Given the description of an element on the screen output the (x, y) to click on. 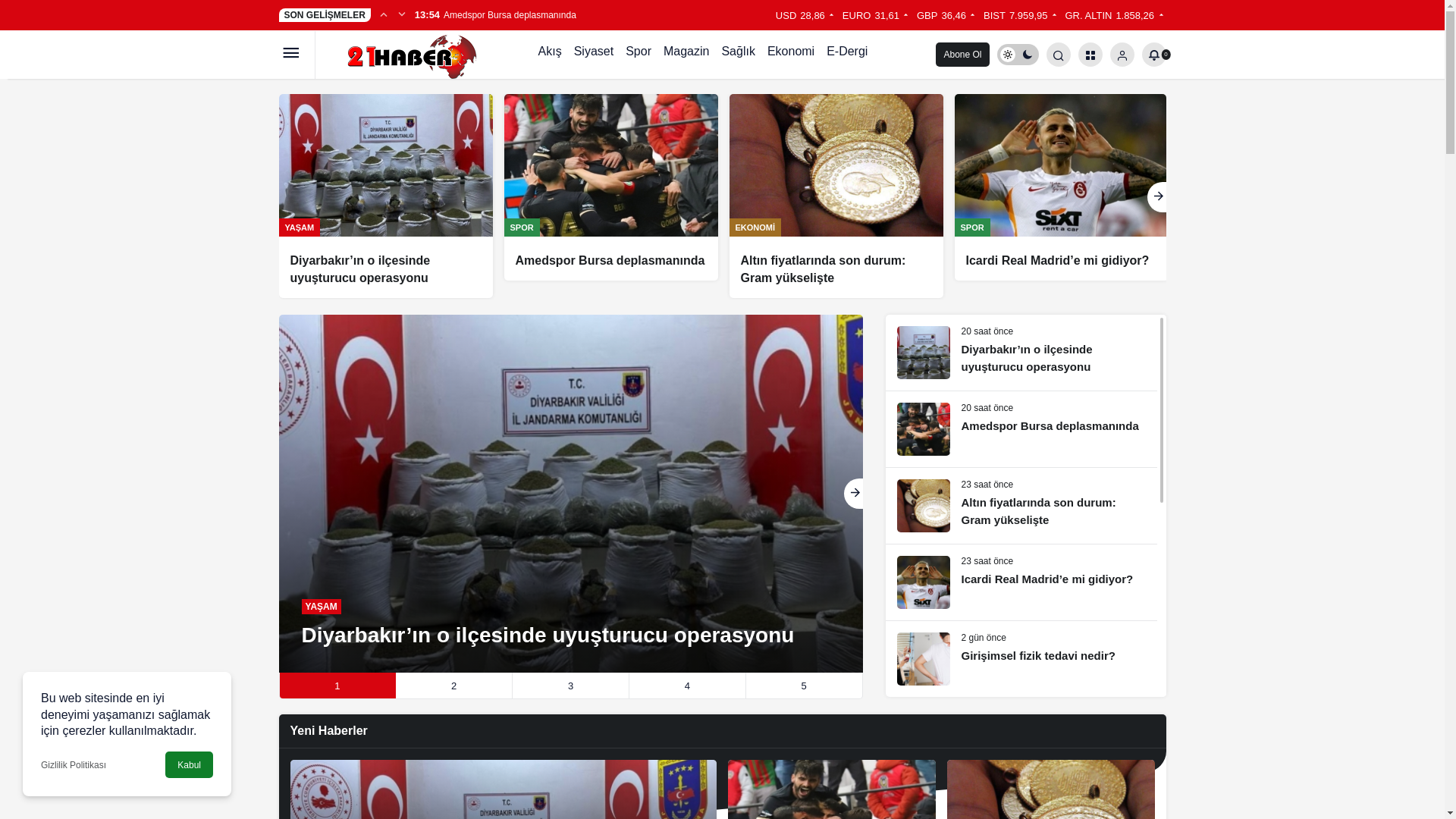
0 Element type: text (1154, 54)
E-Dergi Element type: text (846, 54)
5 Element type: text (803, 685)
4 Element type: text (687, 685)
2 Element type: text (453, 685)
3 Element type: text (570, 685)
1 Element type: text (336, 685)
SPOR Element type: text (521, 227)
Abone Ol Element type: text (961, 54)
Ekonomi Element type: text (790, 54)
EKONOMI Element type: text (755, 227)
SPOR Element type: text (971, 227)
Siyaset Element type: text (593, 54)
Spor Element type: text (638, 54)
21Haber Element type: hover (401, 53)
Magazin Element type: text (686, 54)
Kabul Element type: text (189, 764)
